Given the description of an element on the screen output the (x, y) to click on. 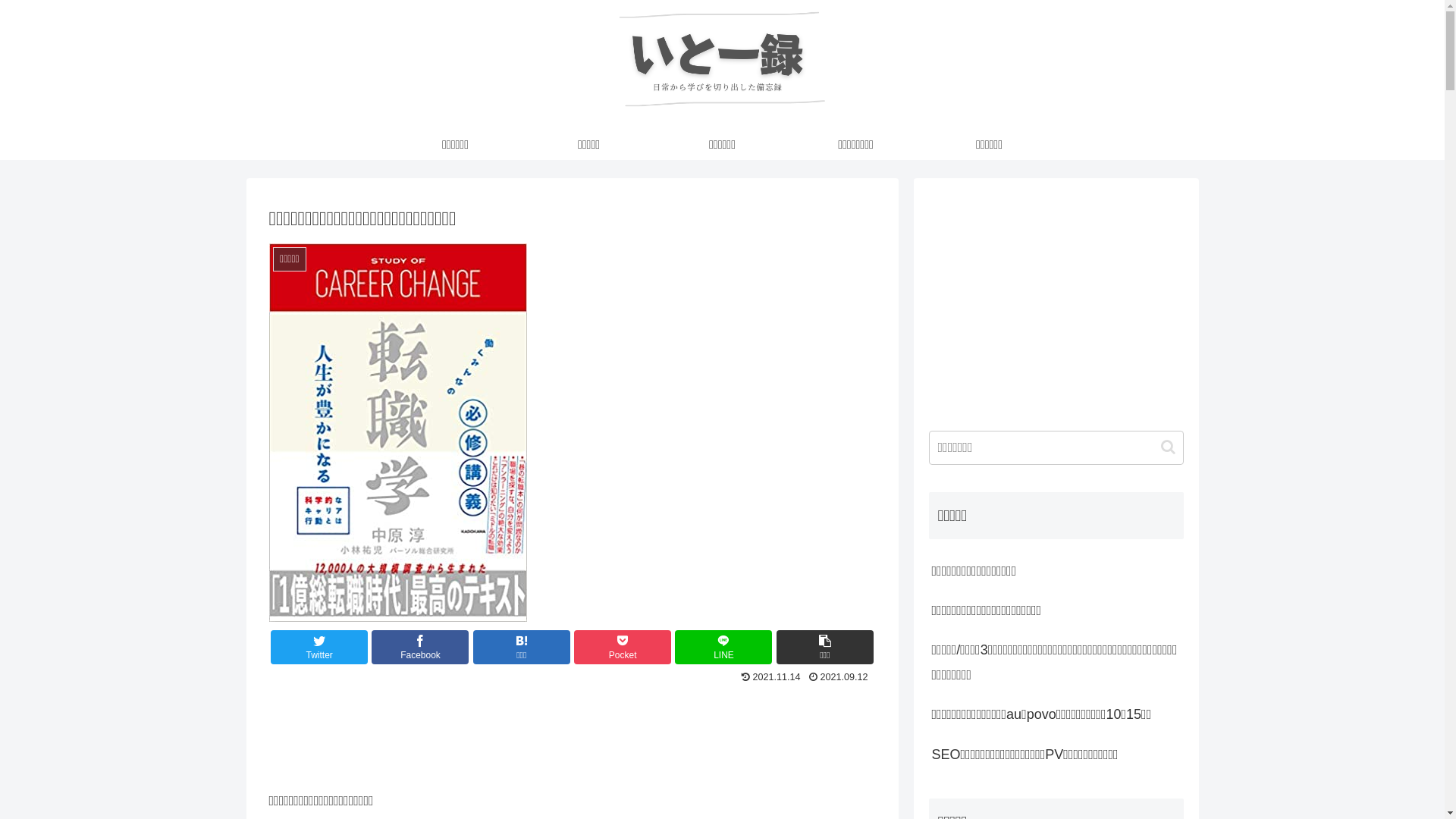
LINE Element type: text (722, 647)
Advertisement Element type: hover (571, 729)
Pocket Element type: text (622, 647)
Advertisement Element type: hover (1055, 299)
Twitter Element type: text (318, 647)
Facebook Element type: text (419, 647)
